Given the description of an element on the screen output the (x, y) to click on. 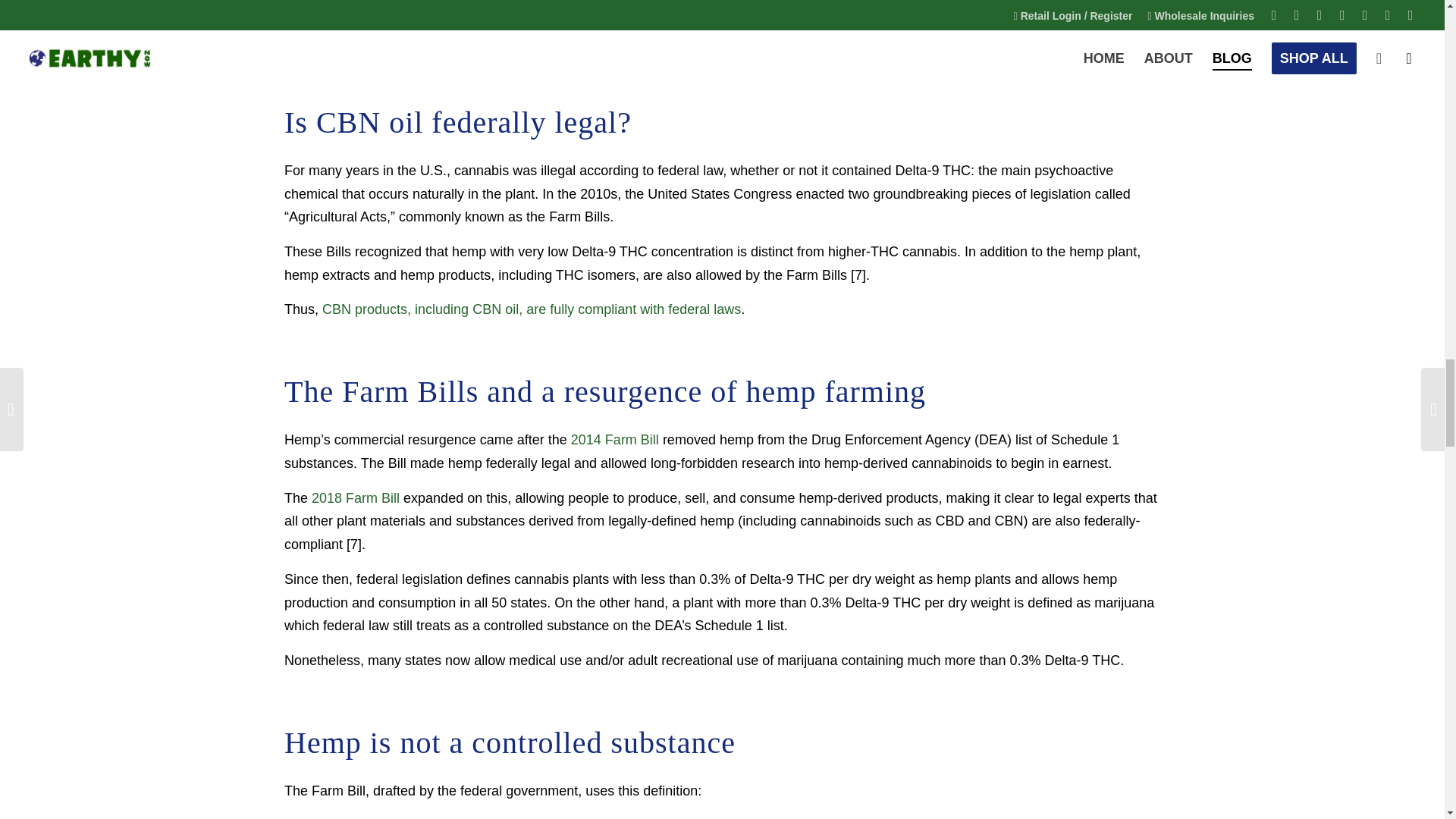
2014 Farm Bill (613, 439)
2018 Farm Bill (354, 498)
